Given the description of an element on the screen output the (x, y) to click on. 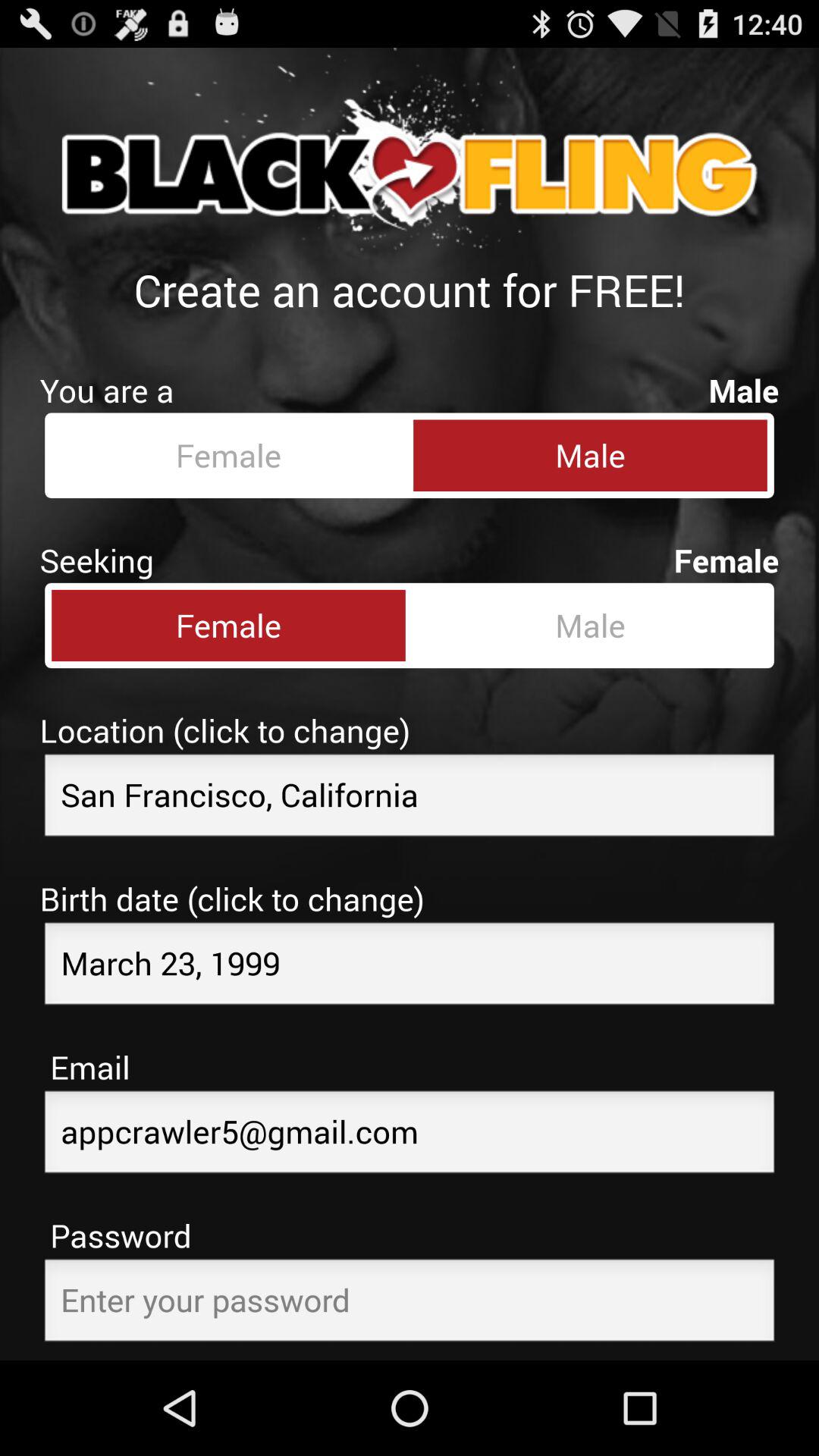
enter birthdate (409, 967)
